Given the description of an element on the screen output the (x, y) to click on. 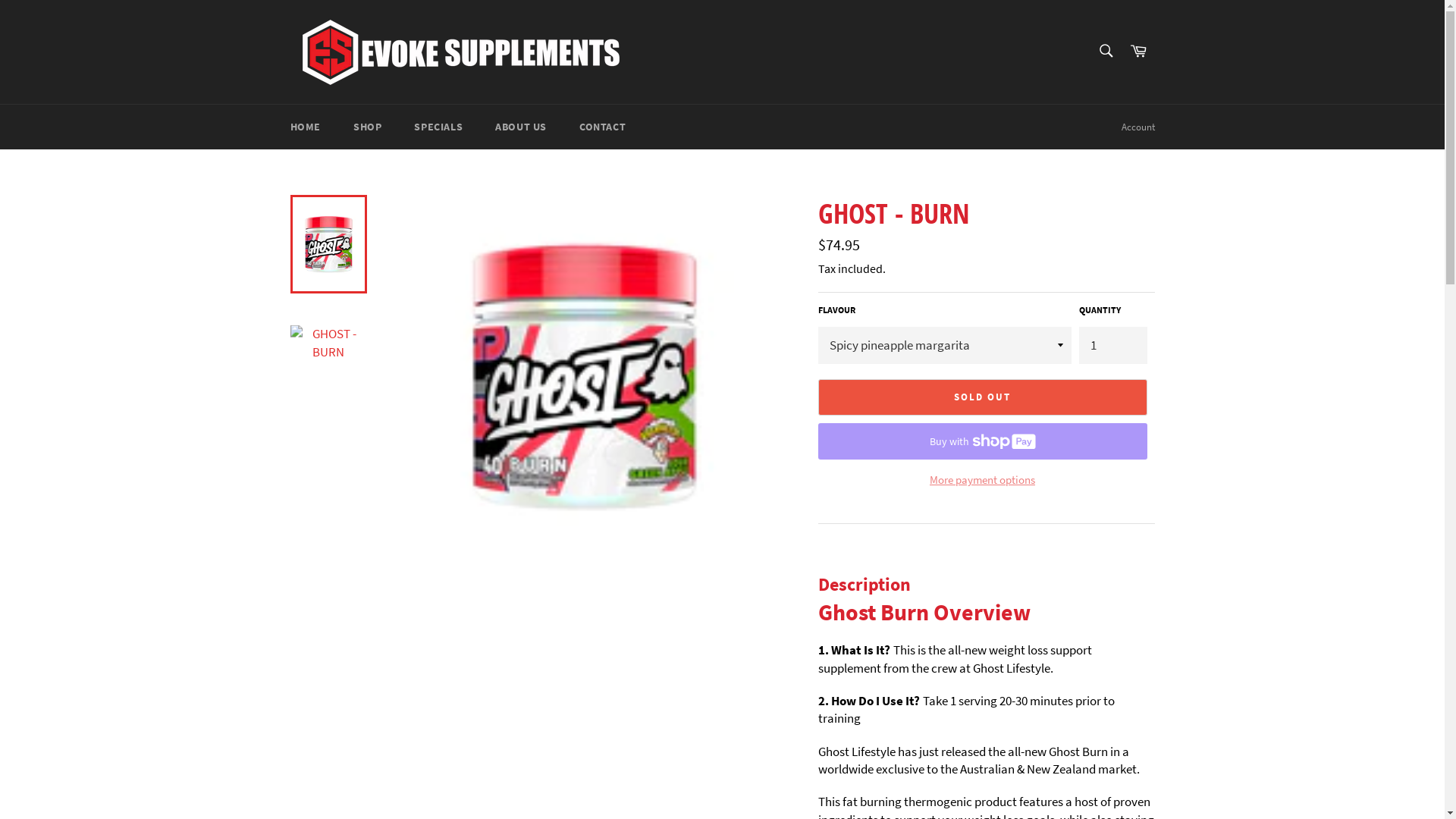
SOLD OUT Element type: text (981, 397)
SPECIALS Element type: text (437, 126)
Account Element type: text (1137, 127)
More payment options Element type: text (981, 480)
SHOP Element type: text (367, 126)
ABOUT US Element type: text (520, 126)
HOME Element type: text (304, 126)
CONTACT Element type: text (602, 126)
Cart Element type: text (1138, 51)
Search Element type: text (1105, 50)
